Given the description of an element on the screen output the (x, y) to click on. 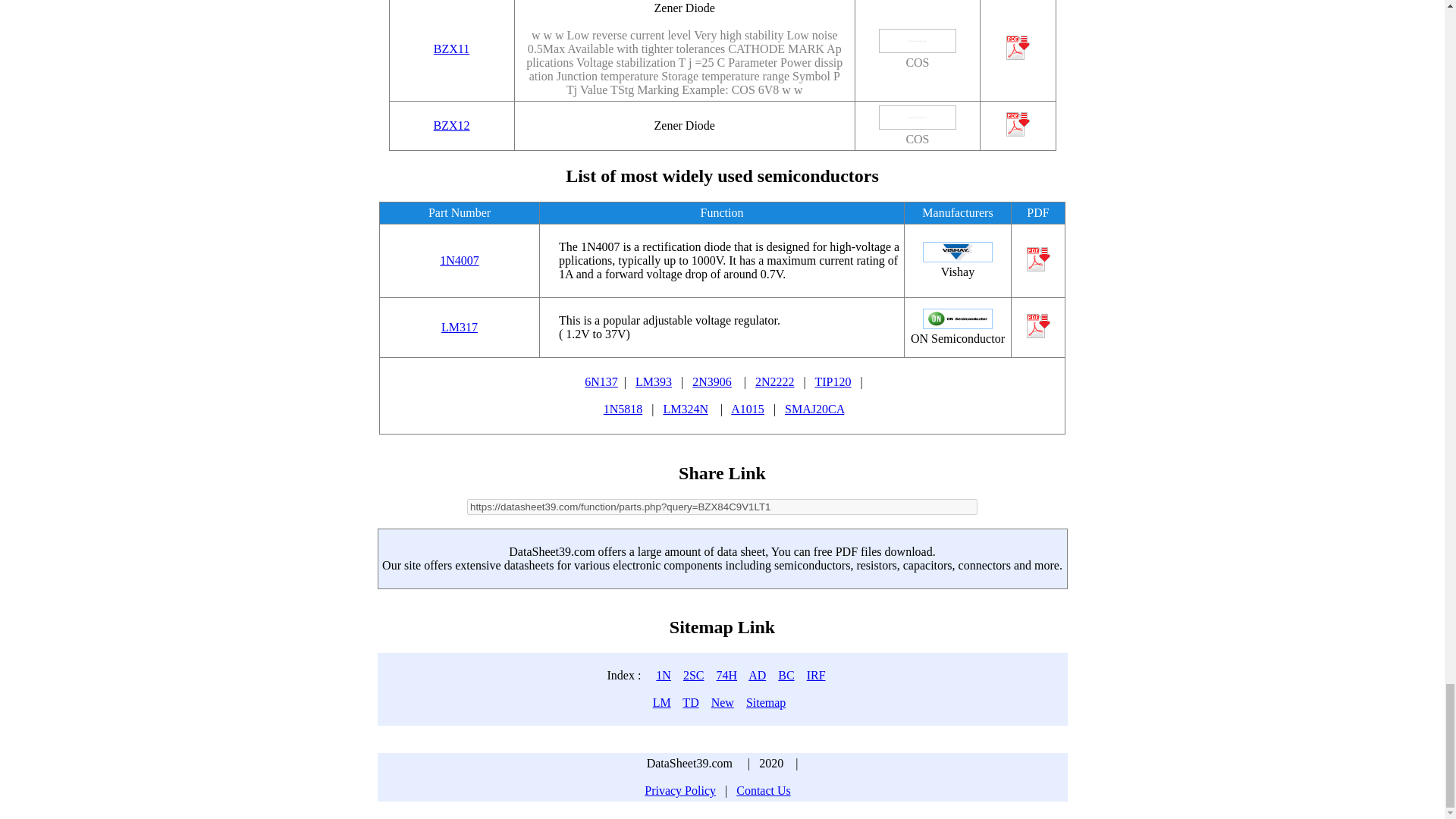
BZX12 (451, 124)
LM317 datasheet (459, 327)
6N137 (601, 381)
TIP120 (831, 381)
LM317 (459, 327)
BZX11 (450, 48)
1N4007 datasheet (459, 259)
2N2222 (774, 381)
2N3906 (712, 381)
1N5818 (623, 408)
LM393 (652, 381)
LM324N (684, 408)
A1015 (747, 408)
1N4007 (459, 259)
